Given the description of an element on the screen output the (x, y) to click on. 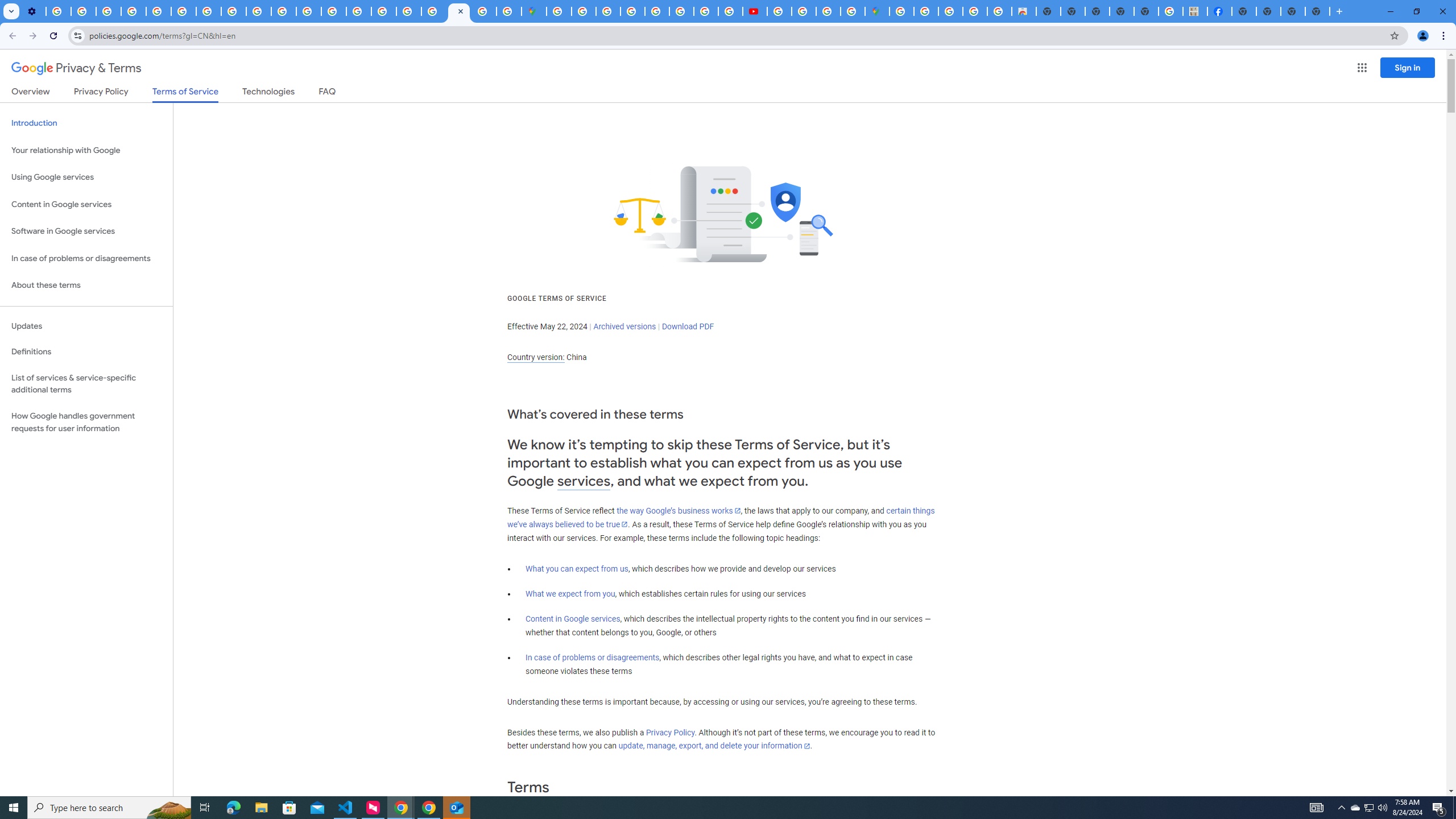
Software in Google services (86, 230)
What you can expect from us (576, 568)
Privacy Checkup (283, 11)
How Chrome protects your passwords - Google Chrome Help (778, 11)
FAQ (327, 93)
Miley Cyrus | Facebook (1219, 11)
Google Maps (533, 11)
Sign in - Google Accounts (433, 11)
New Tab (1243, 11)
YouTube (182, 11)
Privacy Help Center - Policies Help (158, 11)
